Given the description of an element on the screen output the (x, y) to click on. 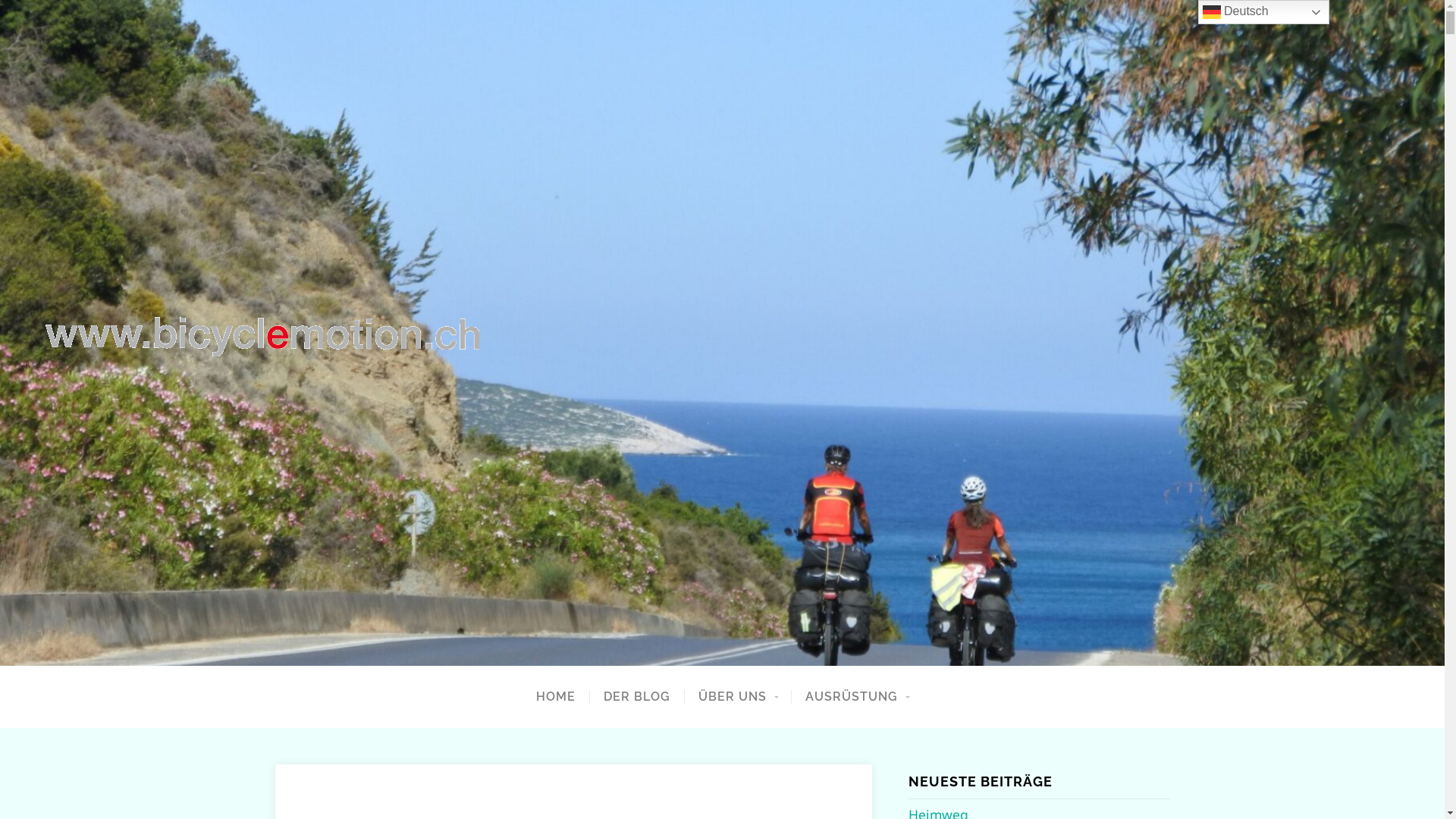
HOME Element type: text (555, 696)
DER BLOG Element type: text (636, 696)
Deutsch Element type: text (1263, 12)
